Given the description of an element on the screen output the (x, y) to click on. 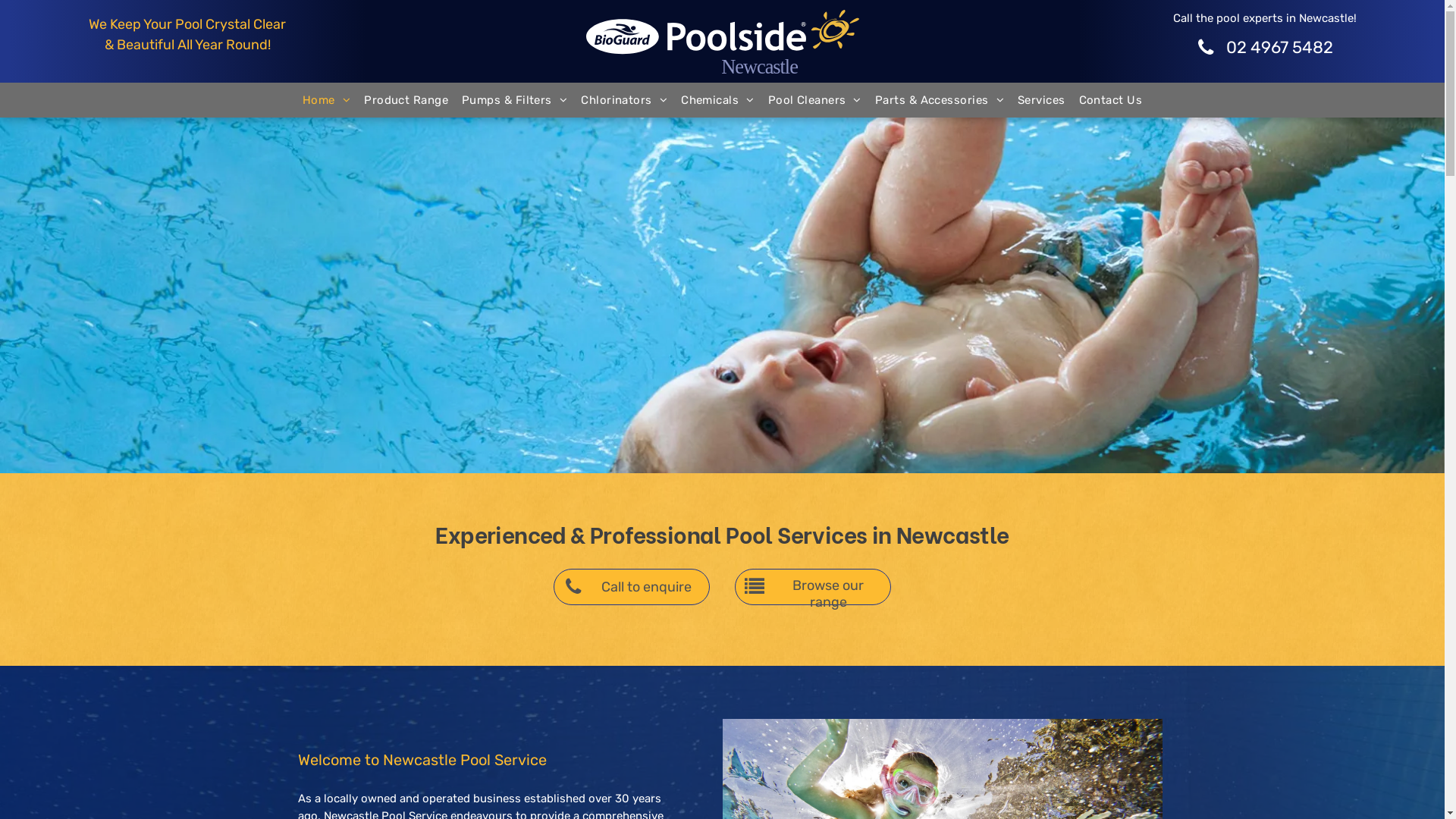
02 4967 5482 Element type: text (1264, 47)
Services Element type: text (1041, 100)
Home Element type: text (326, 100)
Pool Cleaners Element type: text (814, 100)
Call to enquire Element type: text (631, 586)
Chlorinators Element type: text (624, 100)
Contact Us Element type: text (1110, 100)
Browse our range Element type: text (812, 586)
Pumps & Filters Element type: text (514, 100)
Parts & Accessories Element type: text (939, 100)
Product Range Element type: text (406, 100)
Chemicals Element type: text (717, 100)
